Given the description of an element on the screen output the (x, y) to click on. 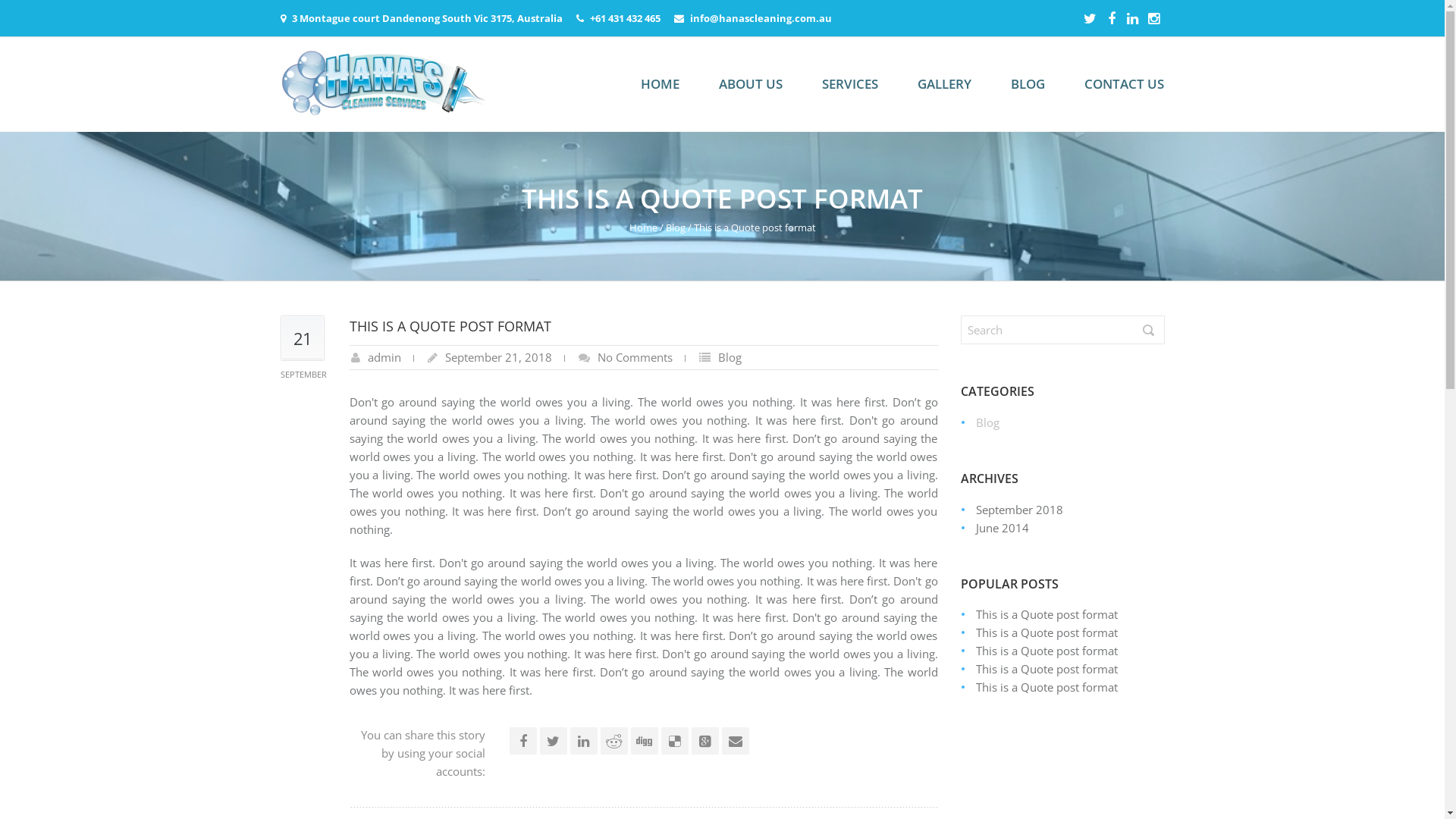
Instagram Element type: hover (1154, 18)
GALLERY Element type: text (943, 83)
SERVICES Element type: text (849, 83)
BLOG Element type: text (1027, 83)
Facebook Element type: hover (1111, 18)
Blog Element type: text (728, 356)
CONTACT US Element type: text (1123, 83)
This is a Quote post format Element type: text (1046, 650)
info@hanascleaning.com.au Element type: text (760, 18)
Blog Element type: text (986, 421)
HOME Element type: text (660, 83)
This is a Quote post format Element type: text (1046, 632)
Home Element type: text (643, 227)
Blog Element type: text (675, 227)
This is a Quote post format Element type: text (1046, 613)
This is a Quote post format Element type: text (1046, 668)
Twitter Element type: hover (1090, 18)
LinkedIn Element type: hover (1132, 18)
September 2018 Element type: text (1018, 509)
June 2014 Element type: text (1001, 527)
No Comments Element type: text (634, 356)
This is a Quote post format Element type: text (1046, 686)
ABOUT US Element type: text (749, 83)
admin Element type: text (383, 356)
